Given the description of an element on the screen output the (x, y) to click on. 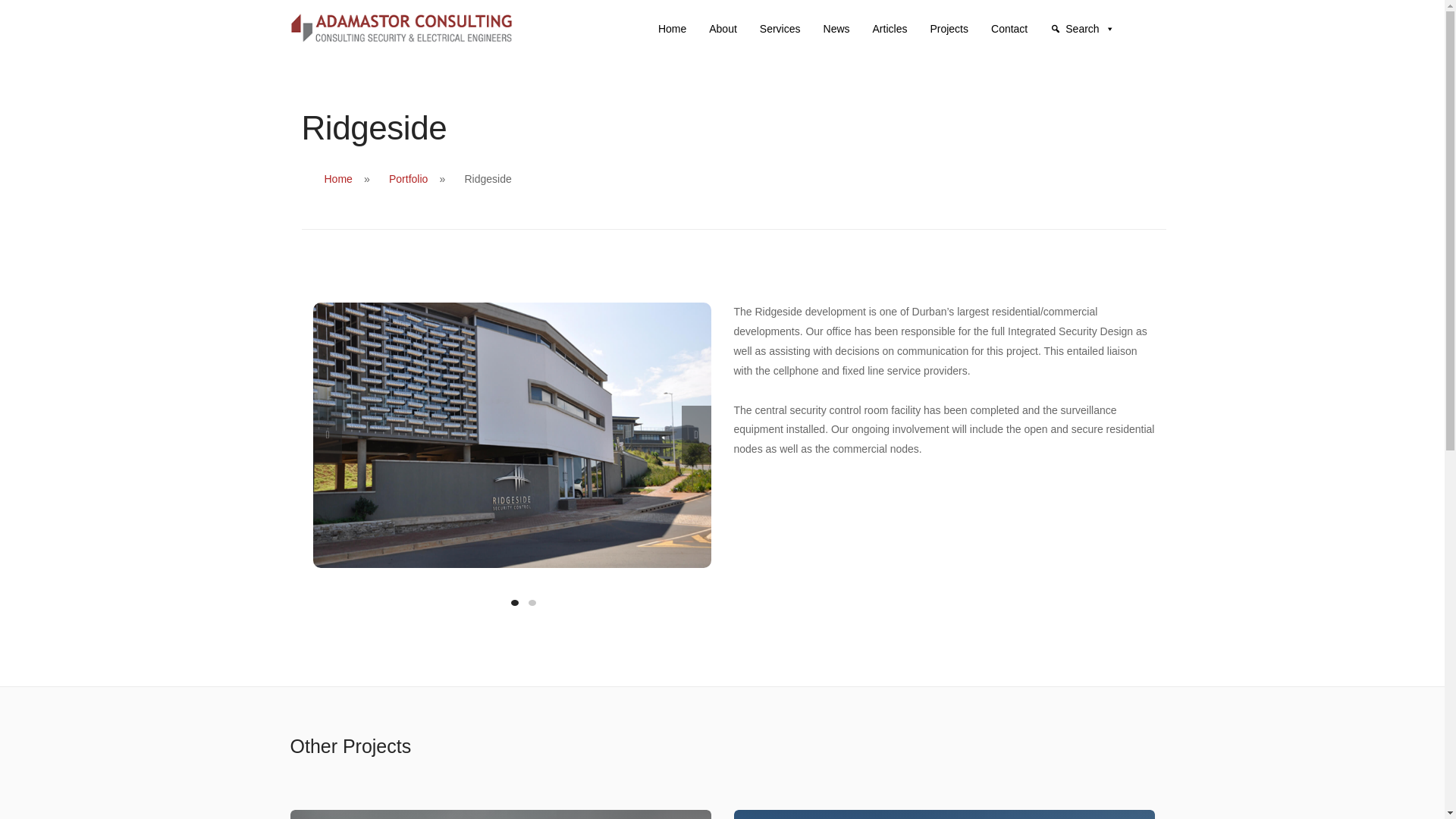
Portfolio (408, 178)
Signature Residential Estate (943, 814)
Projects (948, 28)
Contact (1009, 28)
Home (672, 28)
News (836, 28)
About (722, 28)
Tongaat Special School (499, 814)
Search (1081, 28)
Articles (889, 28)
Home (338, 178)
Services (780, 28)
